Given the description of an element on the screen output the (x, y) to click on. 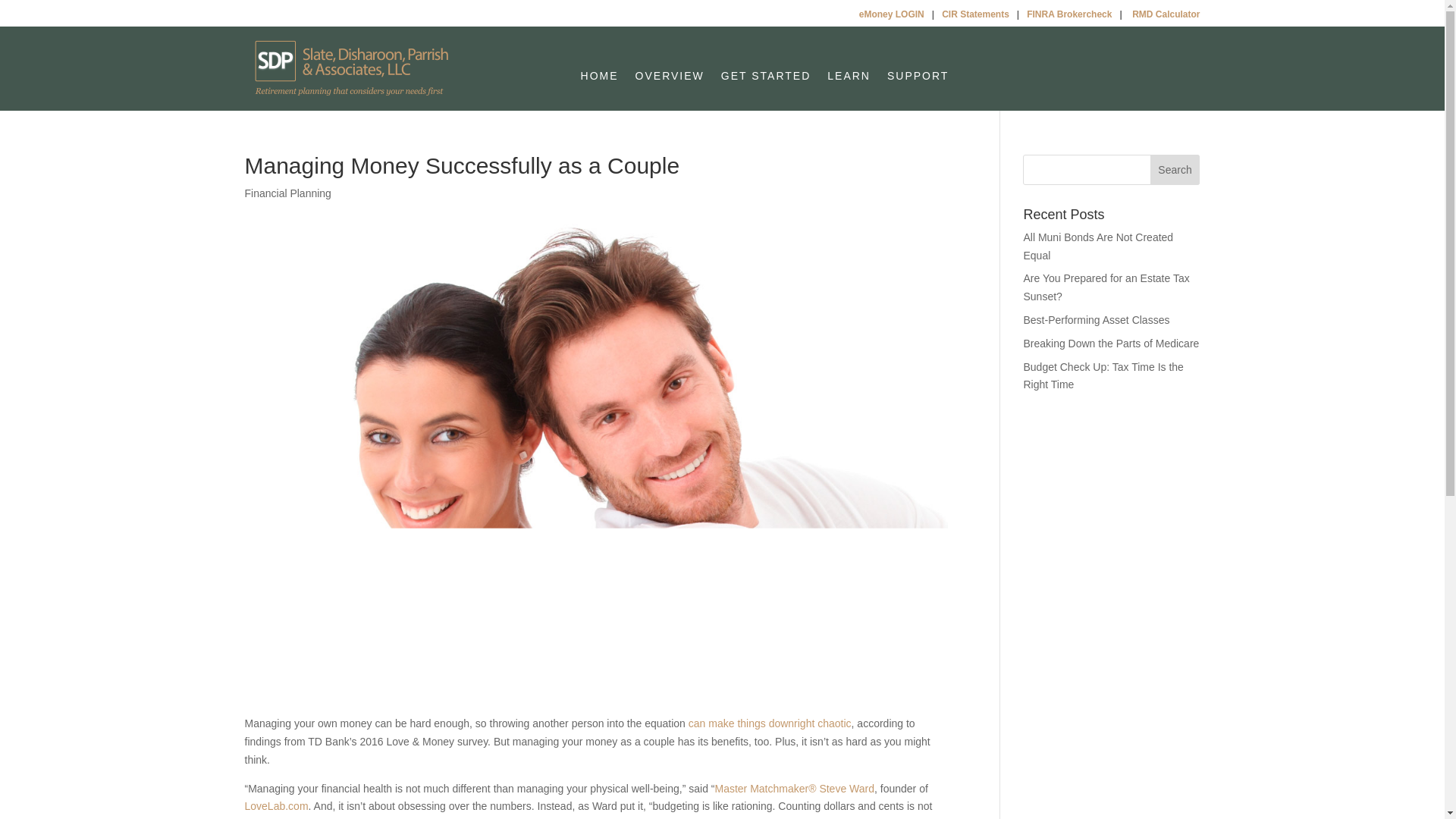
OVERVIEW (669, 78)
FINRA Brokercheck (1069, 14)
LoveLab.com (275, 806)
Search (1174, 169)
SUPPORT (917, 78)
CIR Statements (975, 14)
RMD Calculator (1165, 14)
Budget Check Up: Tax Time Is the Right Time (1102, 376)
Best-Performing Asset Classes (1096, 319)
Breaking Down the Parts of Medicare (1110, 343)
